Given the description of an element on the screen output the (x, y) to click on. 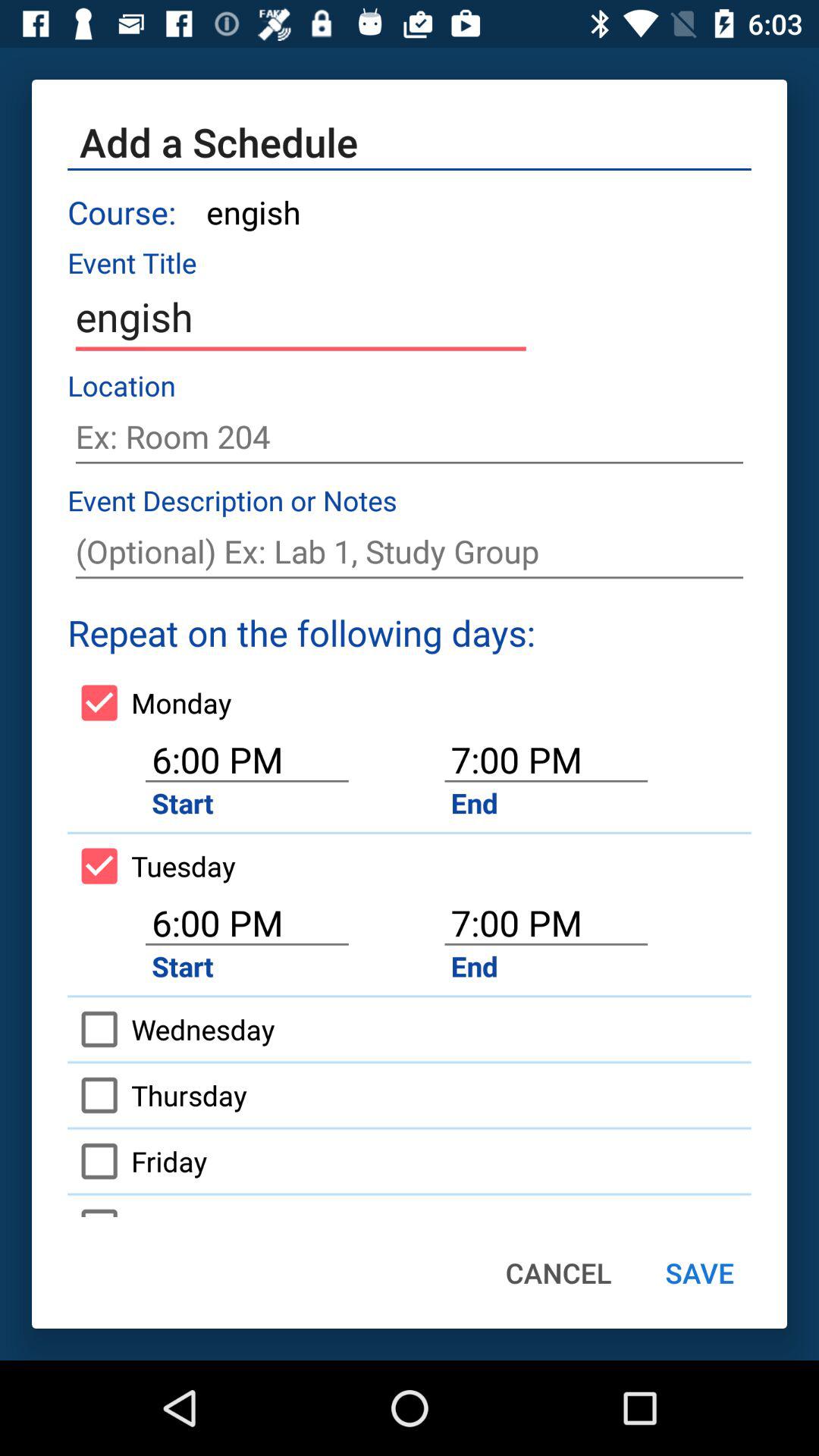
flip to monday (149, 702)
